Given the description of an element on the screen output the (x, y) to click on. 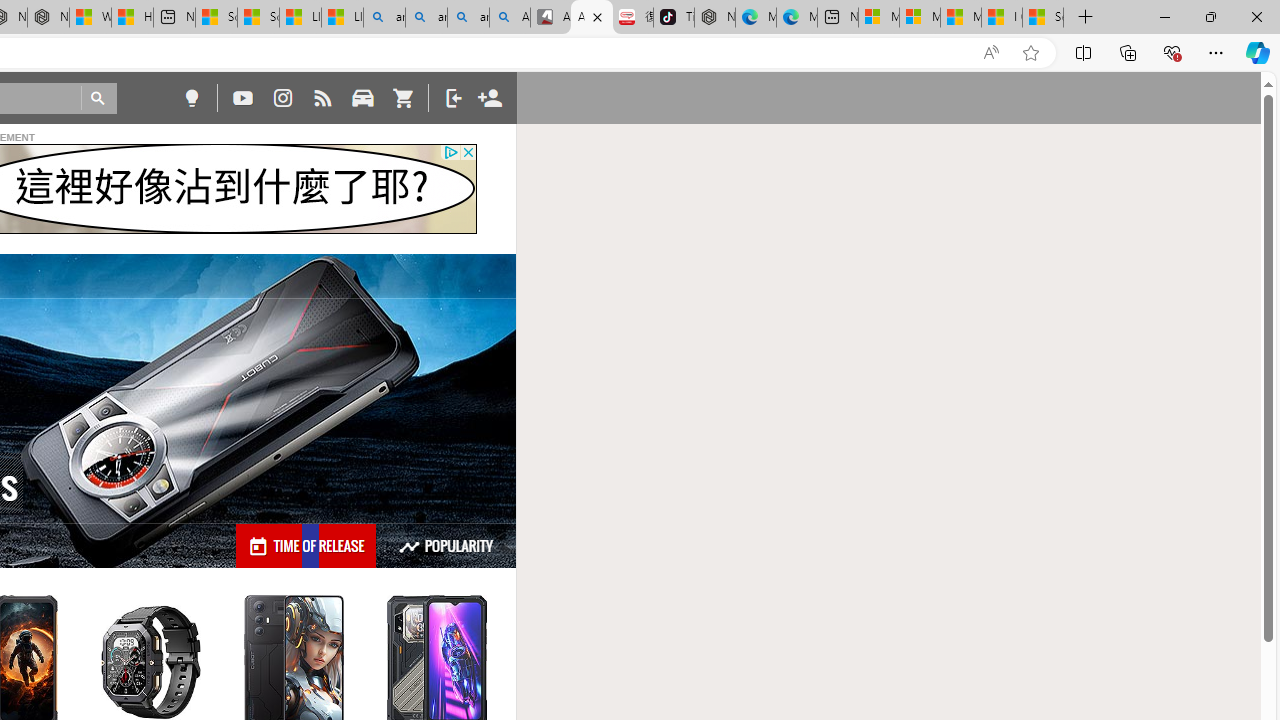
I Gained 20 Pounds of Muscle in 30 Days! | Watch (1001, 17)
Microsoft account | Privacy (919, 17)
Wildlife - MSN (90, 17)
Microsoft Start (960, 17)
